Given the description of an element on the screen output the (x, y) to click on. 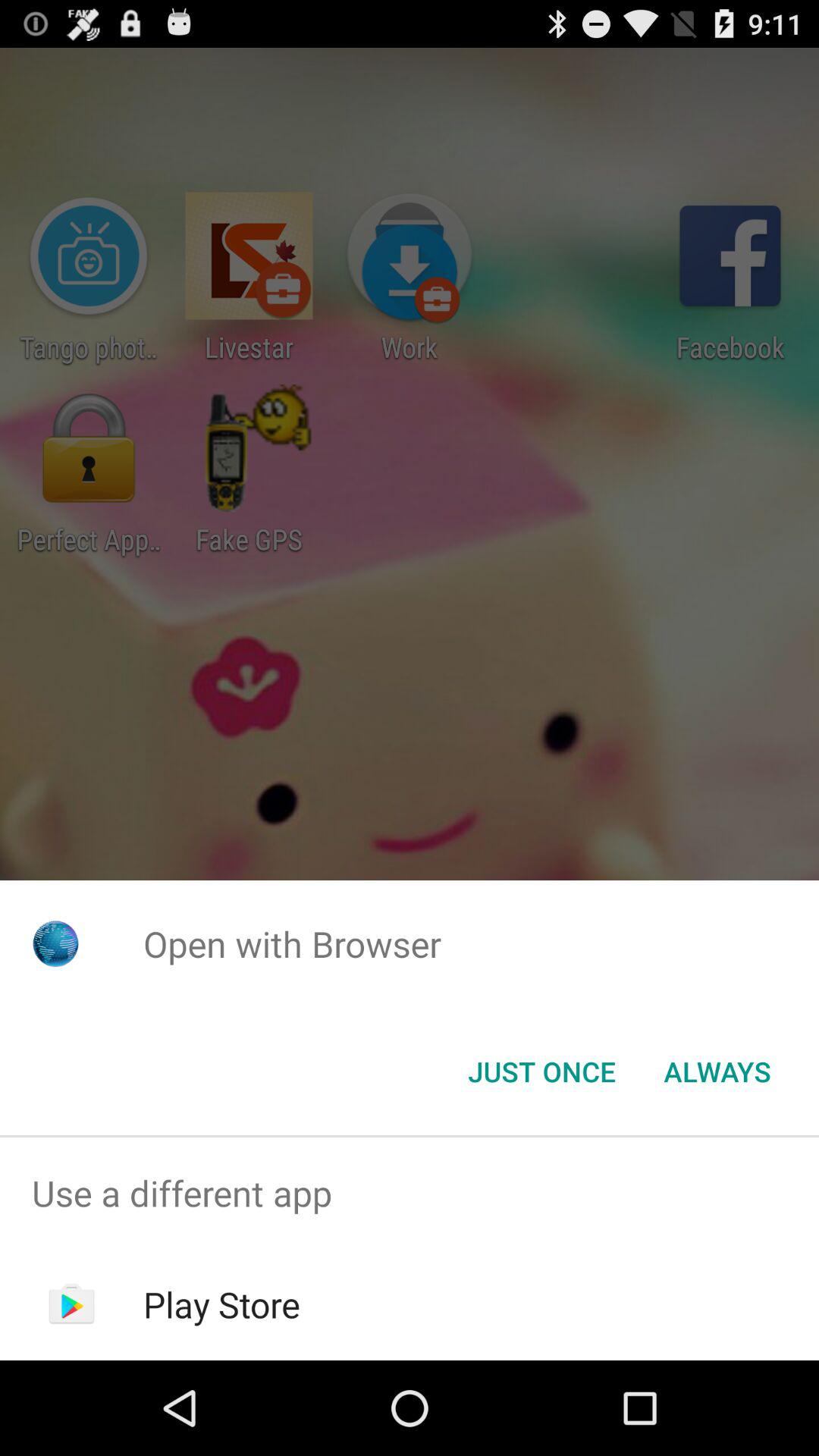
turn on play store (221, 1304)
